Given the description of an element on the screen output the (x, y) to click on. 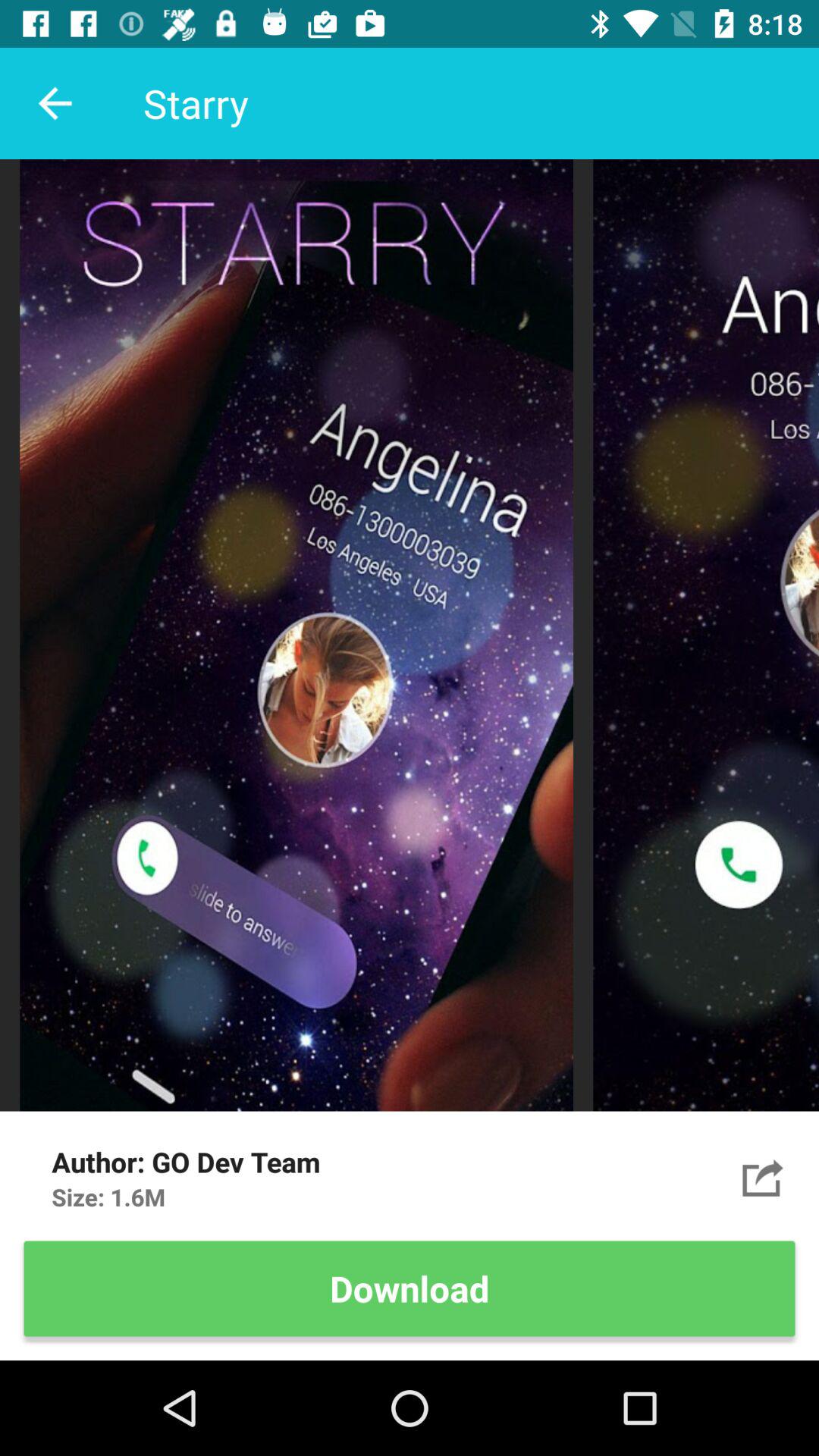
launch download item (409, 1288)
